Given the description of an element on the screen output the (x, y) to click on. 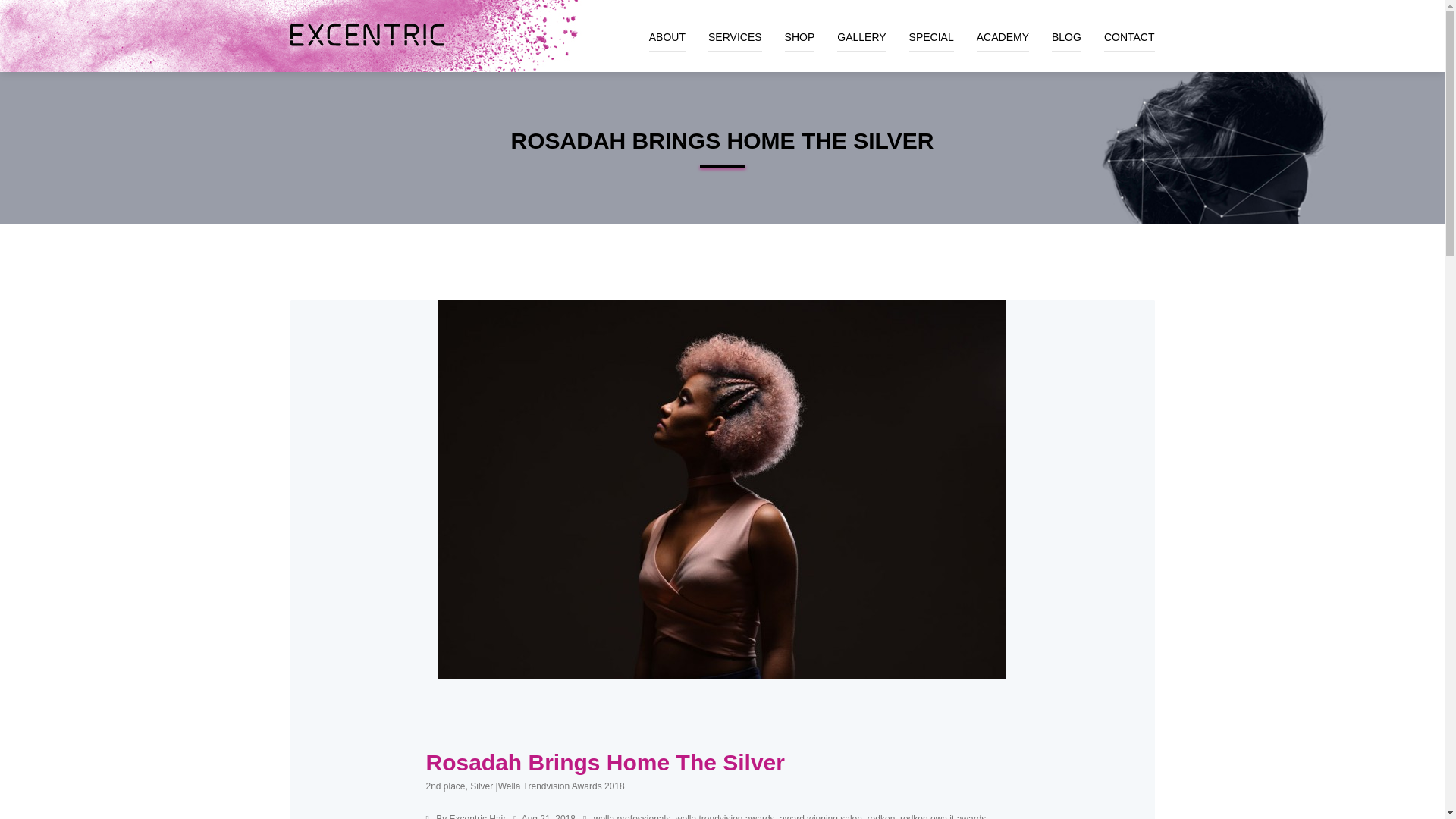
BLOG (1066, 25)
SHOP (799, 25)
ACADEMY (1002, 25)
SERVICES (734, 25)
By Excentric Hair (469, 816)
ABOUT (667, 25)
CONTACT (1128, 25)
GALLERY (861, 25)
SPECIAL (930, 25)
